Given the description of an element on the screen output the (x, y) to click on. 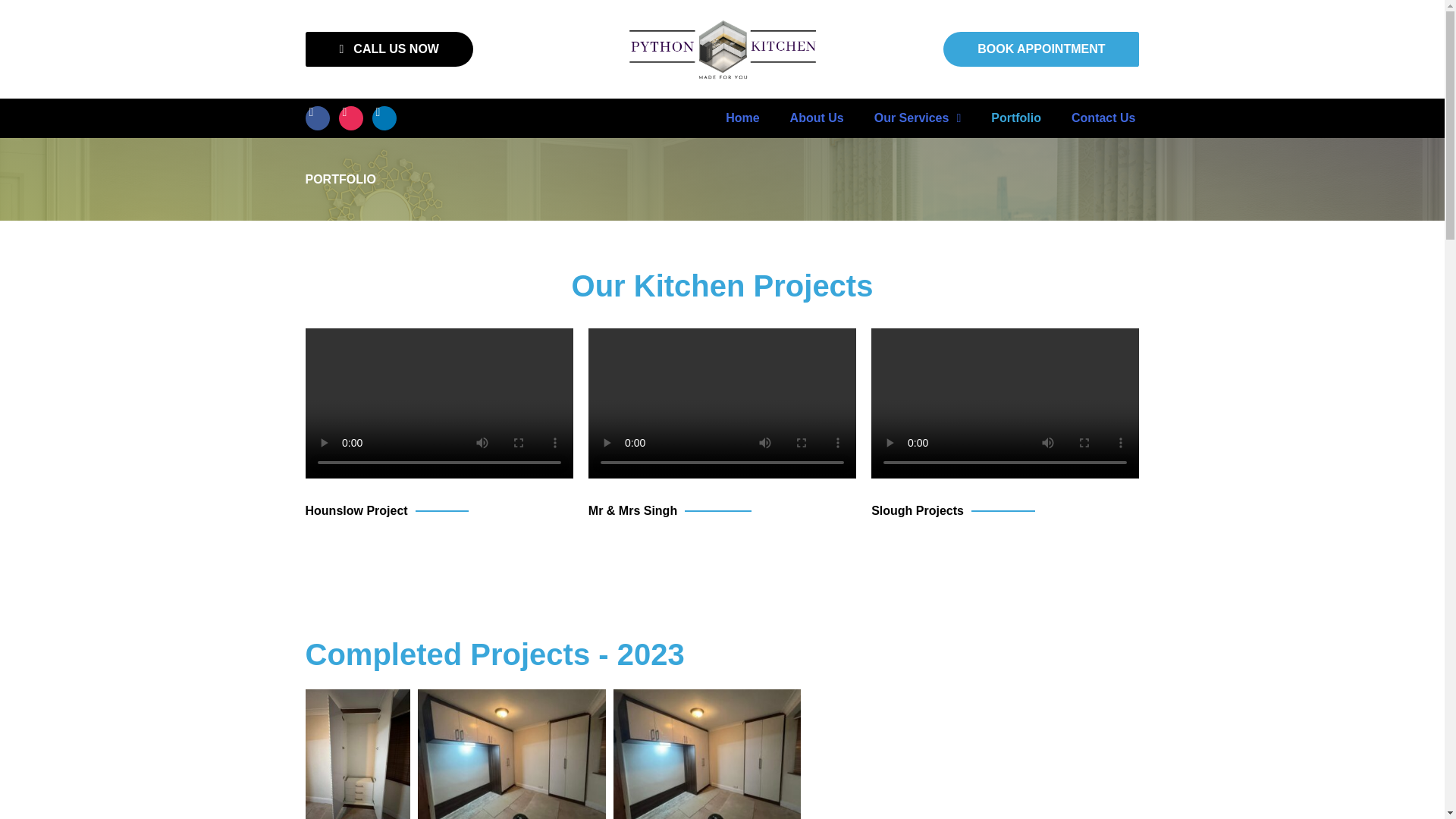
Our Services (917, 118)
Portfolio (1016, 118)
BOOK APPOINTMENT (1283, 48)
Linkedin (383, 118)
Facebook (316, 118)
CALL US NOW (134, 48)
About Us (816, 118)
Instagram (349, 118)
Contact Us (1103, 118)
Home (742, 118)
